Given the description of an element on the screen output the (x, y) to click on. 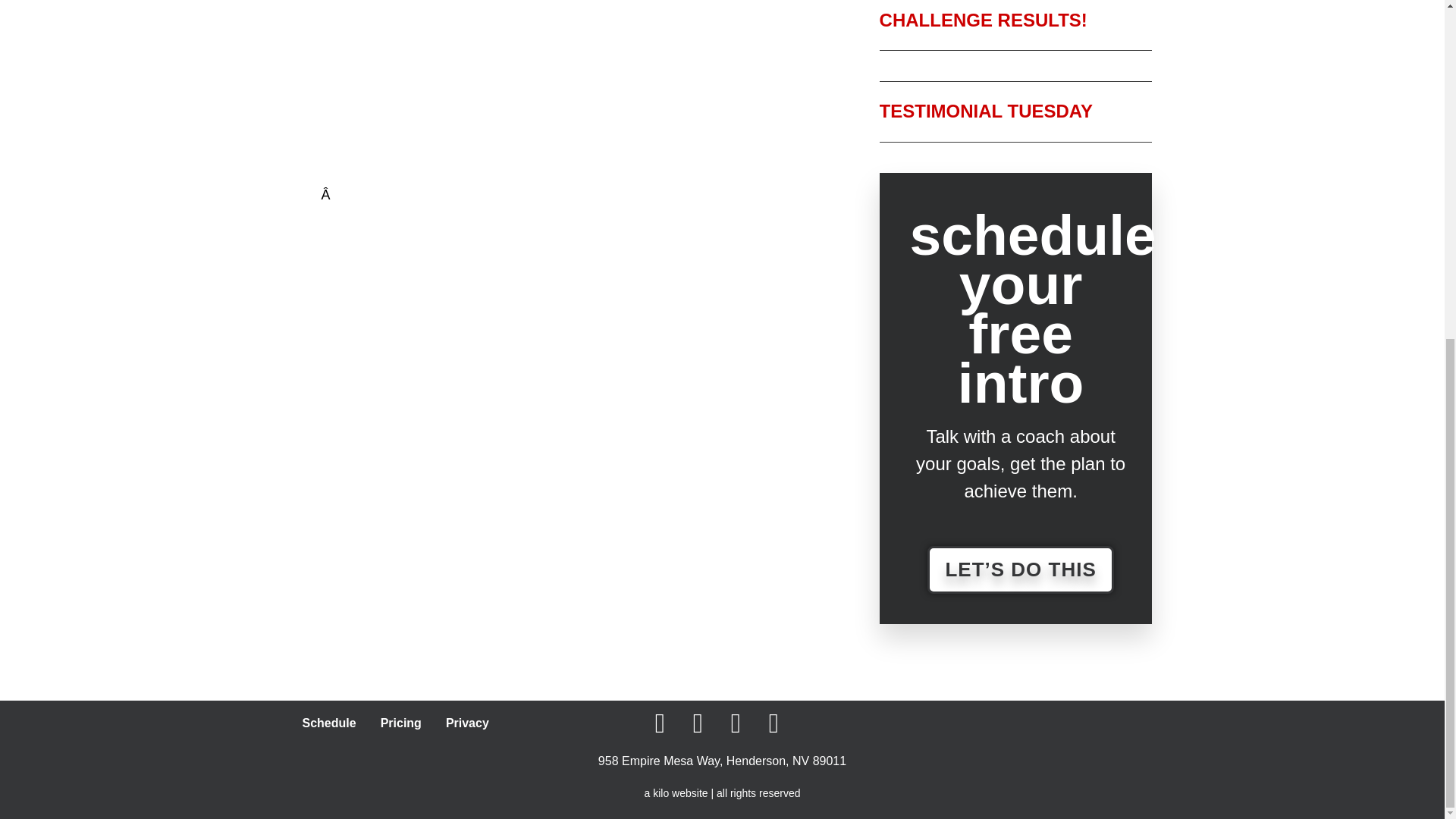
aaron-and-catelyn (684, 110)
TESTIMONIAL TUESDAY (986, 110)
jose-pull (475, 99)
2021 NEW YEAR NUTRITION CHALLENGE RESULTS! (1002, 14)
Pricing (400, 723)
Schedule (328, 723)
times3 (536, 294)
Privacy (466, 723)
